Given the description of an element on the screen output the (x, y) to click on. 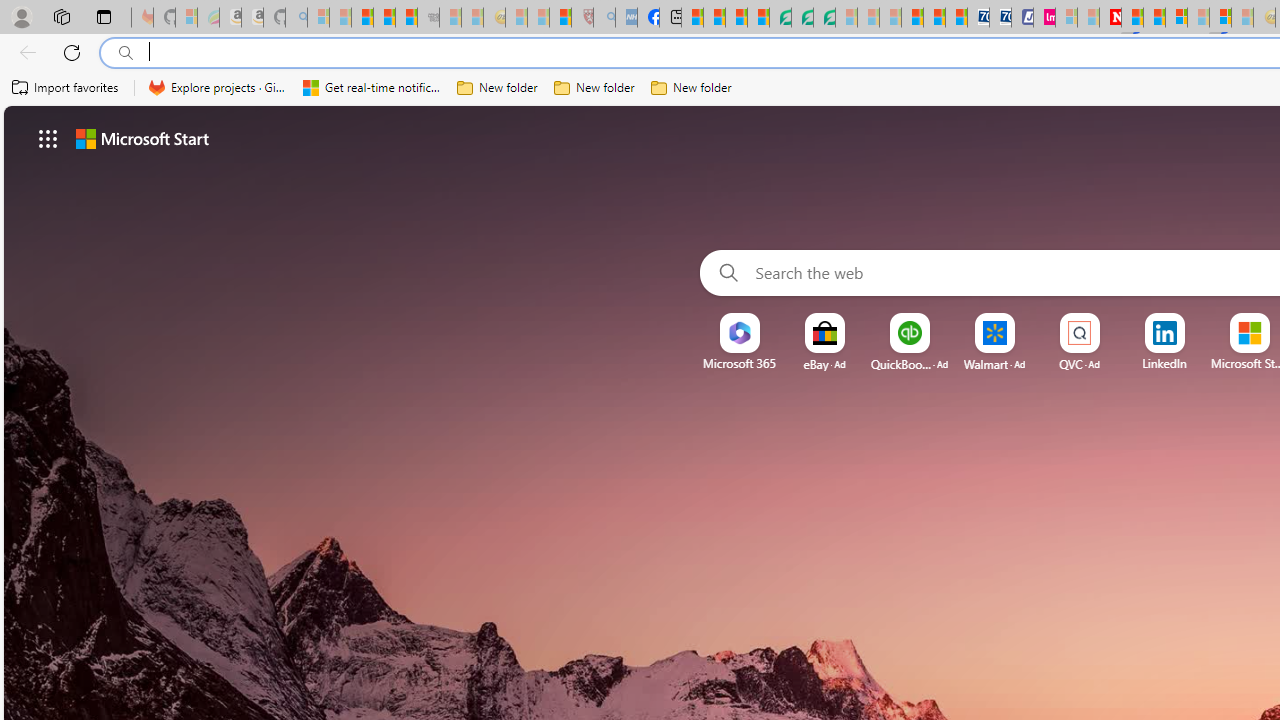
Terms of Use Agreement (802, 17)
14 Common Myths Debunked By Scientific Facts (1154, 17)
Jobs - lastminute.com Investor Portal (1044, 17)
list of asthma inhalers uk - Search - Sleeping (604, 17)
Microsoft Word - consumer-privacy address update 2.2021 (824, 17)
